Given the description of an element on the screen output the (x, y) to click on. 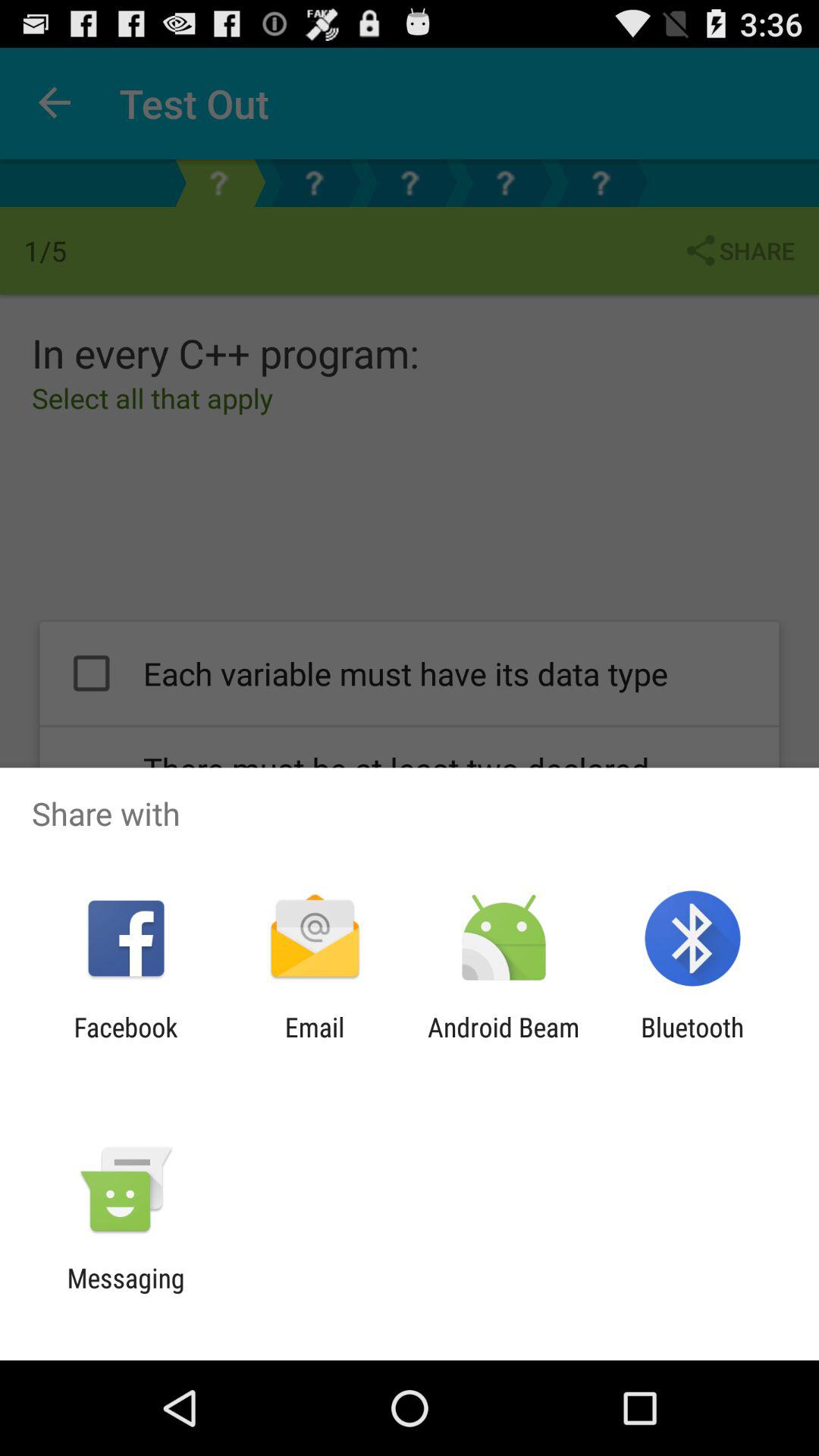
tap icon next to the facebook item (314, 1042)
